Given the description of an element on the screen output the (x, y) to click on. 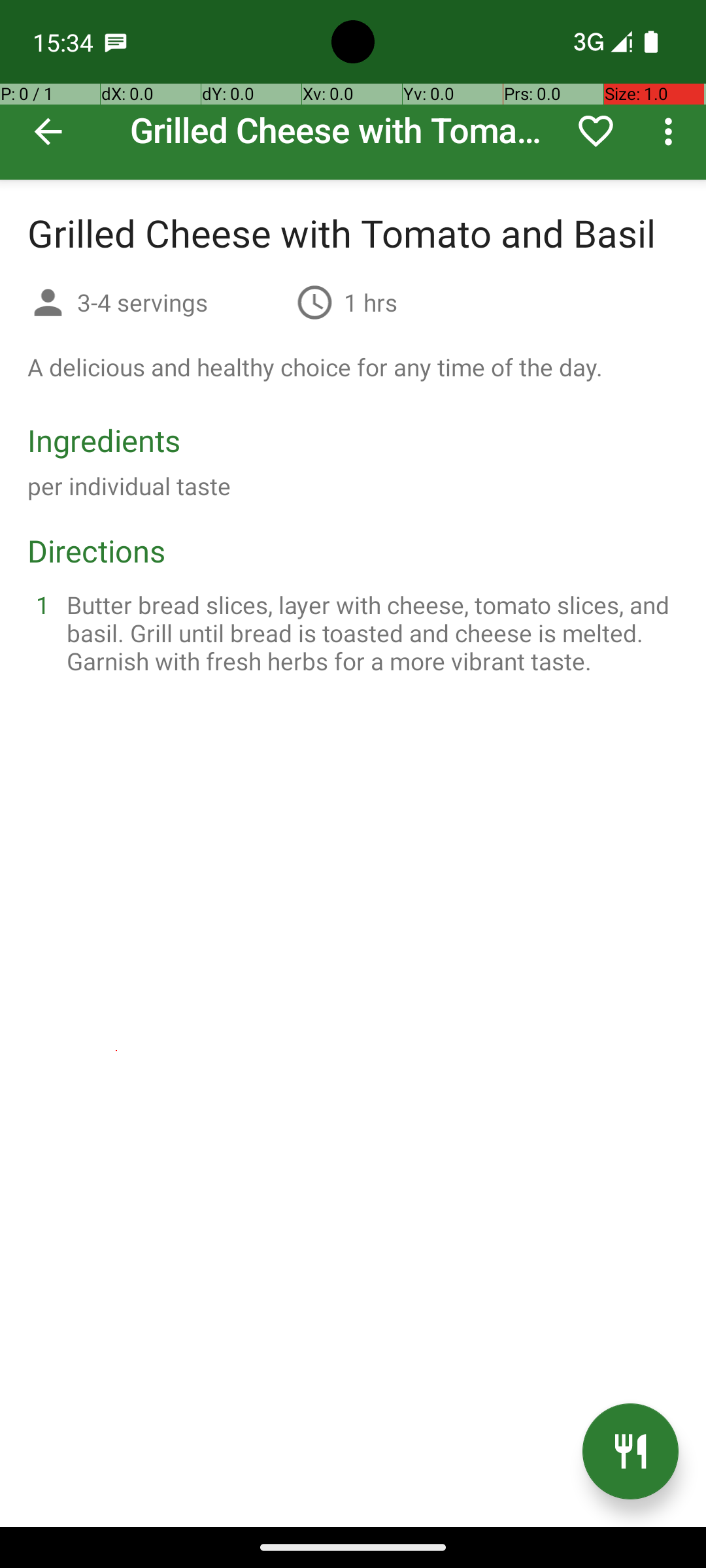
Grilled Cheese with Tomato and Basil Element type: android.widget.FrameLayout (353, 89)
3-4 servings Element type: android.widget.TextView (181, 301)
1 hrs Element type: android.widget.TextView (370, 301)
per individual taste Element type: android.widget.TextView (128, 485)
Butter bread slices, layer with cheese, tomato slices, and basil. Grill until bread is toasted and cheese is melted. Garnish with fresh herbs for a more vibrant taste. Element type: android.widget.TextView (368, 632)
